Given the description of an element on the screen output the (x, y) to click on. 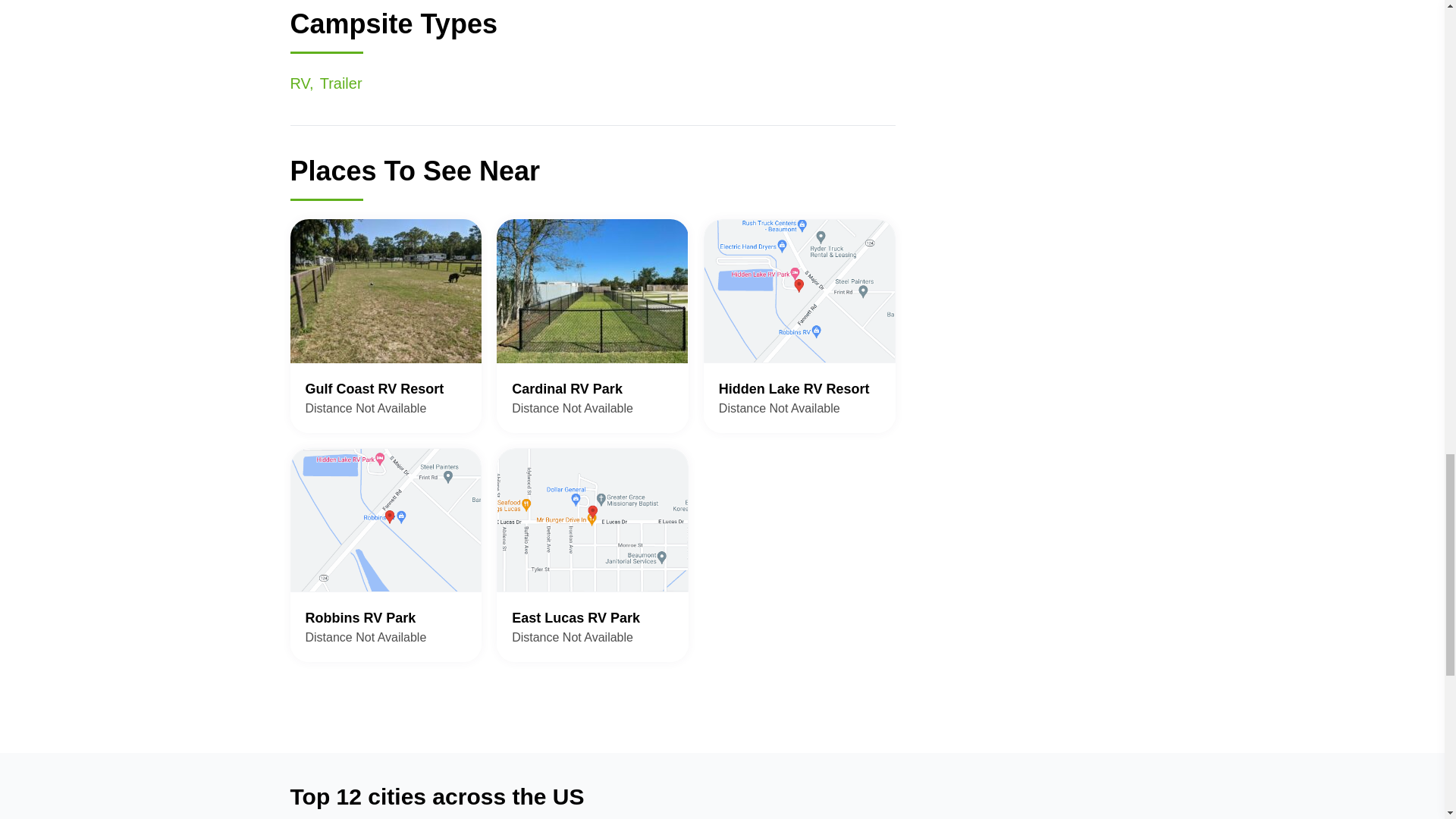
Trailer (341, 82)
RV, (799, 325)
